Given the description of an element on the screen output the (x, y) to click on. 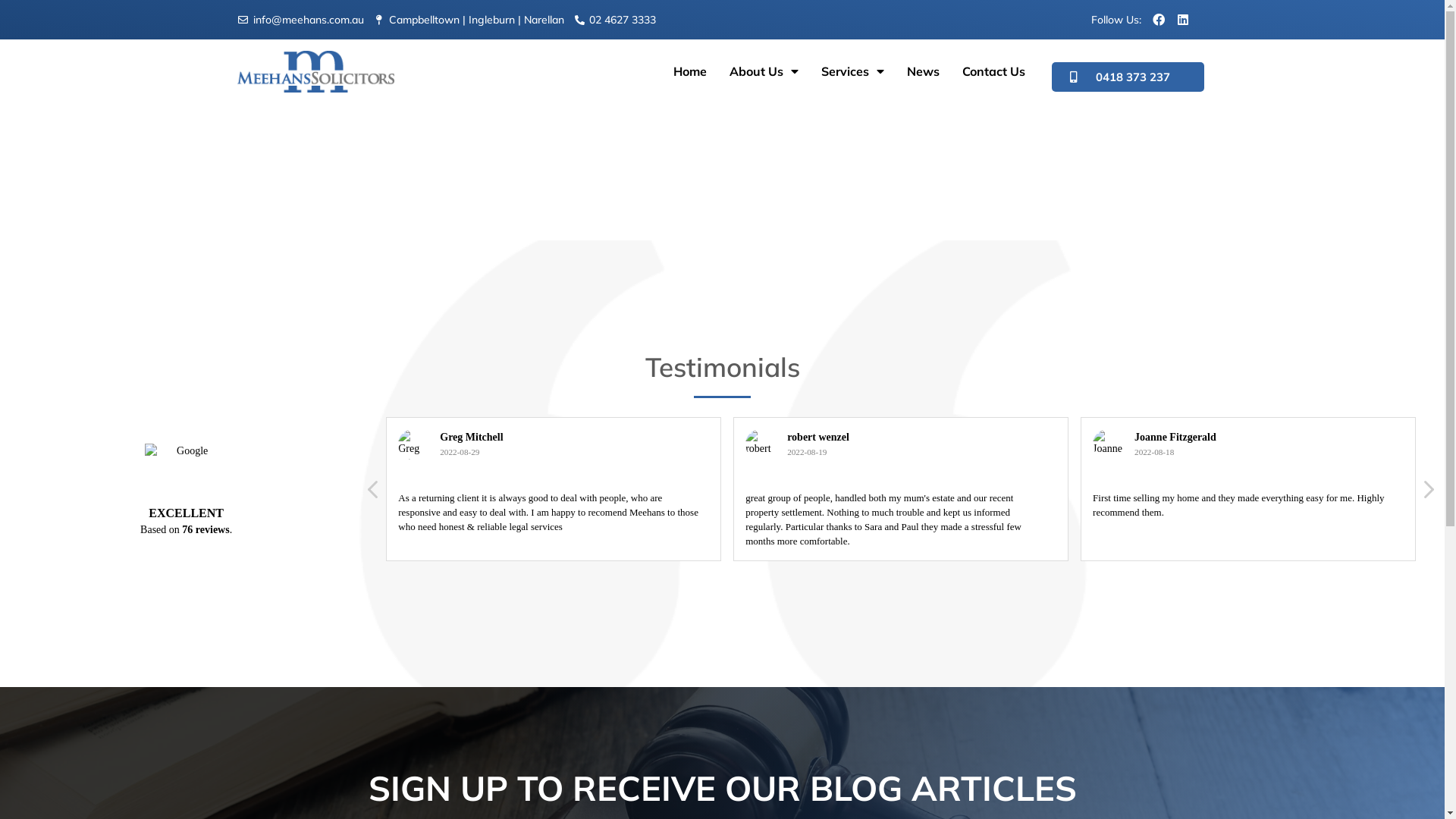
Home Element type: text (690, 70)
info@meehans.com.au Element type: text (299, 20)
Contact Us Element type: text (993, 70)
About Us Element type: text (763, 70)
Campbelltown | Ingleburn | Narellan Element type: text (468, 20)
02 4627 3333 Element type: text (614, 20)
News Element type: text (922, 70)
Services Element type: text (852, 70)
0418 373 237 Element type: text (1127, 76)
